Given the description of an element on the screen output the (x, y) to click on. 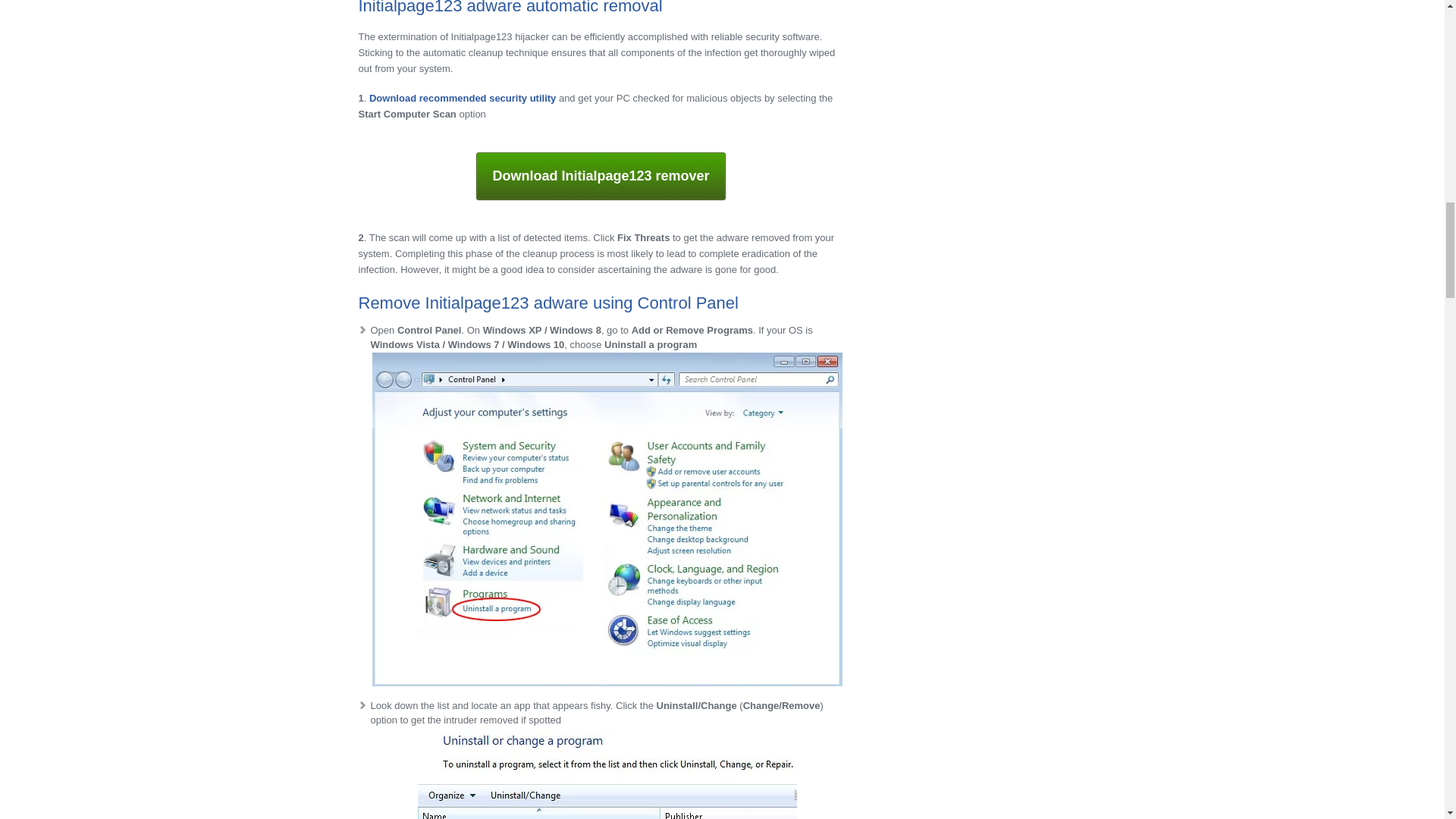
Download recommended security utility (462, 98)
Download Initialpage123 remover (600, 175)
